Given the description of an element on the screen output the (x, y) to click on. 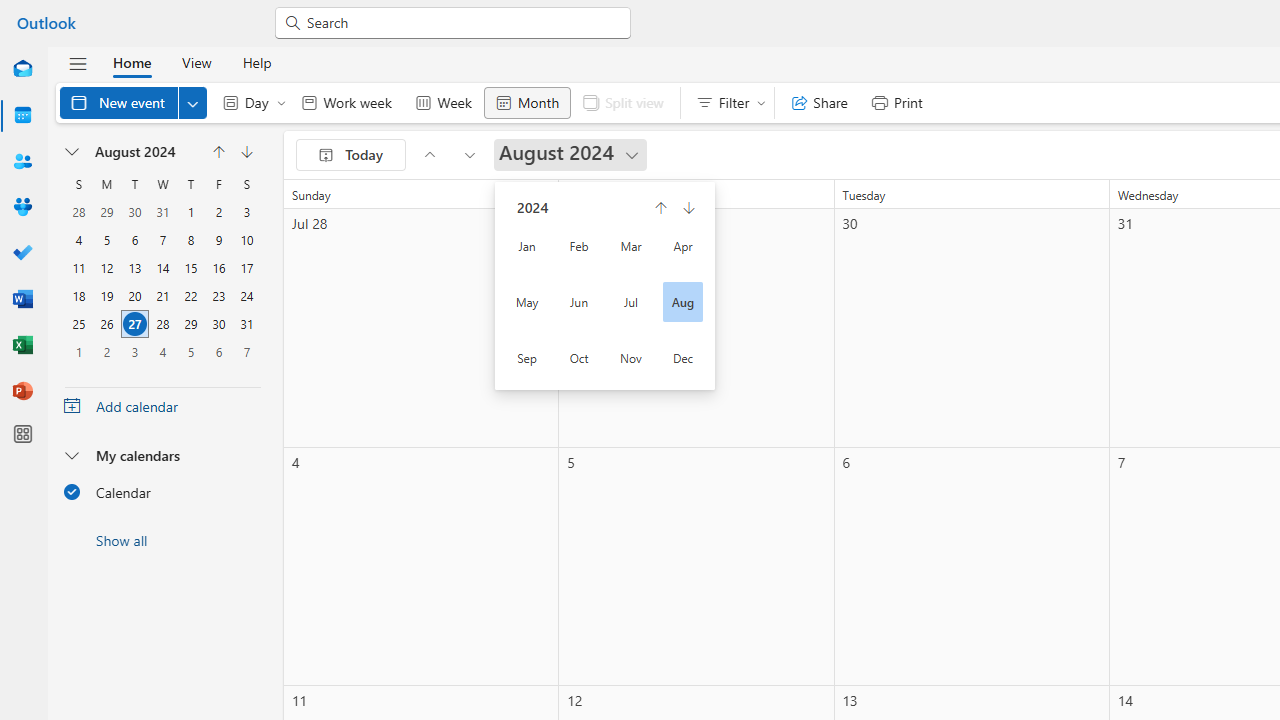
1, August, 2024 (190, 212)
August 2024, select to change the month (144, 152)
My calendars (162, 455)
6, August, 2024 (134, 240)
2, September, 2024 (106, 351)
Monday (107, 183)
2, August, 2024 (218, 212)
7, August, 2024 (162, 240)
System (10, 11)
2, September, 2024 (107, 351)
17, August, 2024 (246, 268)
21, August, 2024 (163, 295)
Print (896, 102)
15, August, 2024 (191, 268)
27, August, 2024 (134, 323)
